Given the description of an element on the screen output the (x, y) to click on. 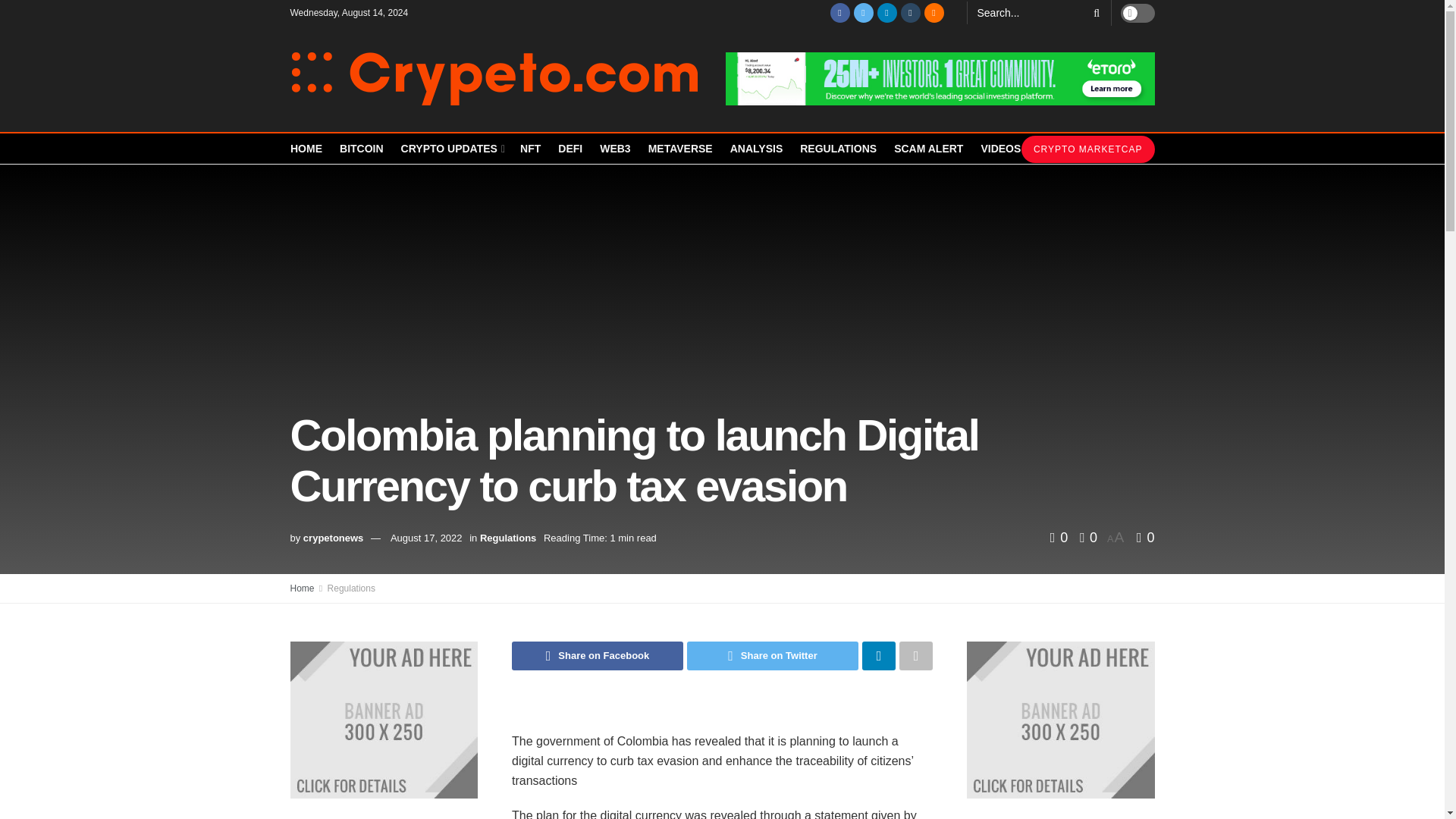
REGULATIONS (837, 148)
WEB3 (614, 148)
HOME (305, 148)
DEFI (569, 148)
METAVERSE (680, 148)
VIDEOS (999, 148)
NFT (529, 148)
CRYPTO UPDATES (451, 148)
CRYPTO MARKETCAP (1088, 148)
BITCOIN (361, 148)
